Given the description of an element on the screen output the (x, y) to click on. 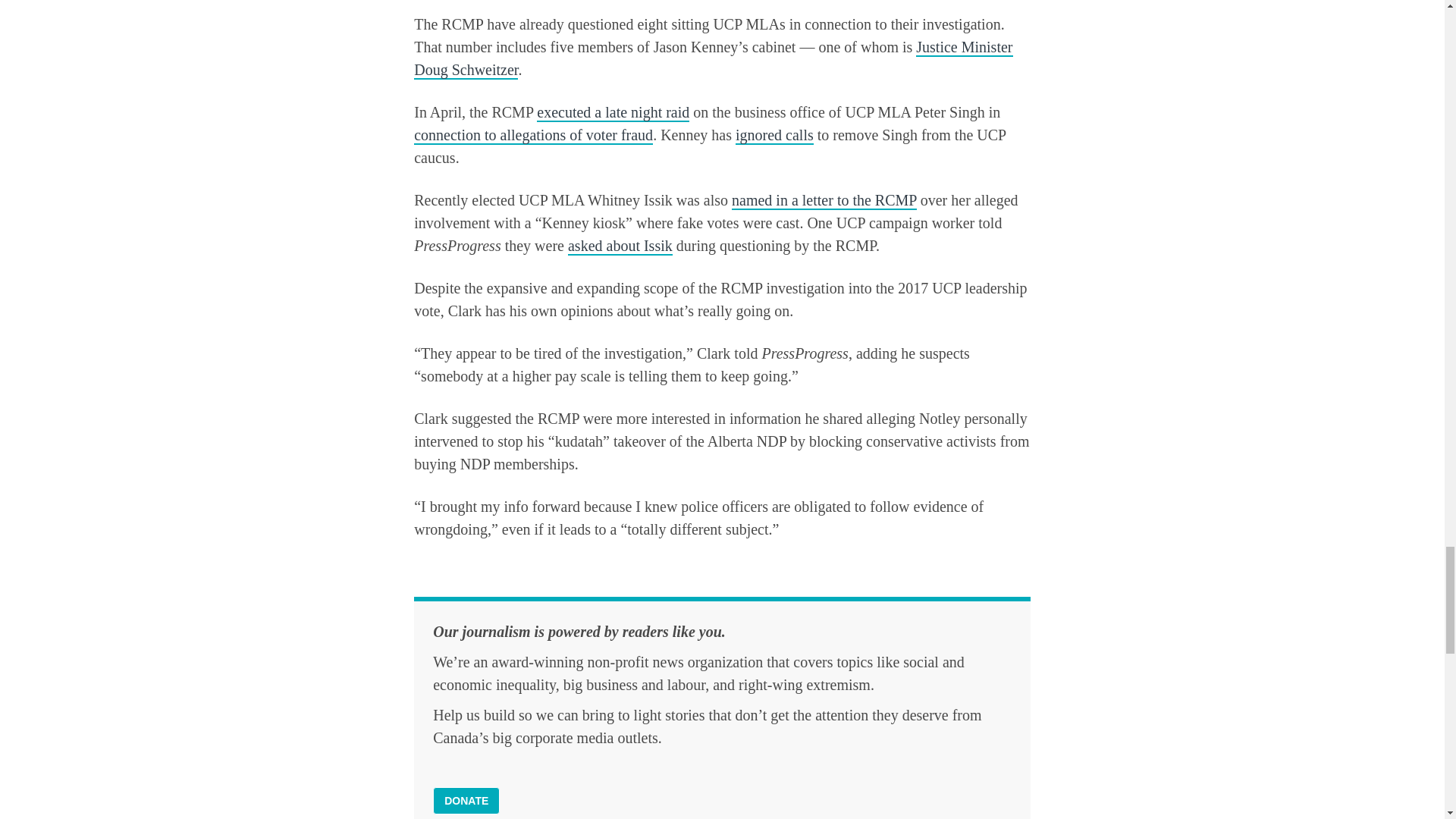
Justice Minister Doug Schweitzer (712, 58)
executed a late night raid (612, 113)
DONATE (465, 800)
asked about Issik (619, 246)
connection to allegations of voter fraud (532, 135)
named in a letter to the RCMP (824, 200)
ignored calls (774, 135)
